Given the description of an element on the screen output the (x, y) to click on. 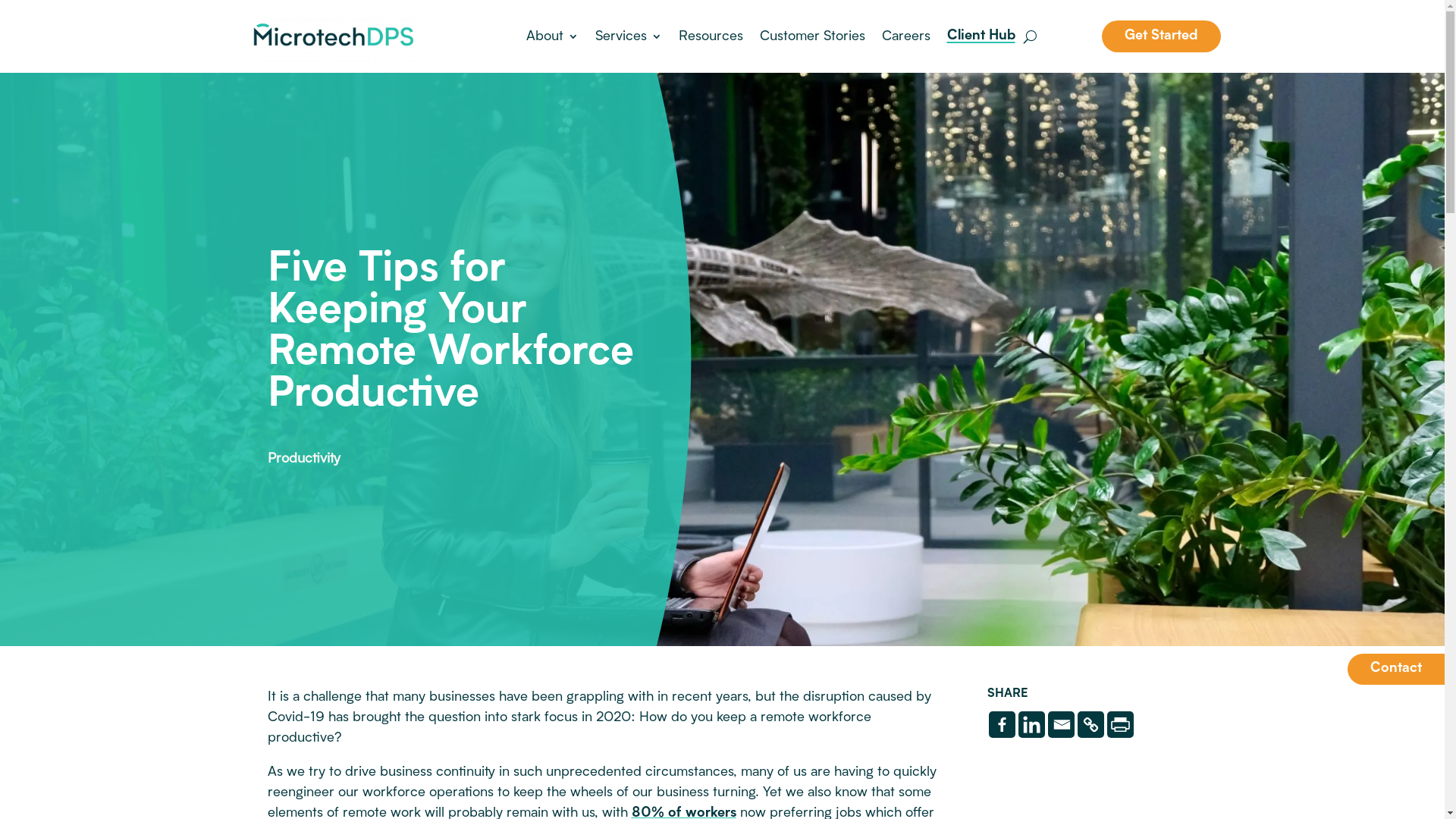
Careers Element type: text (905, 36)
Copy Link Element type: hover (1090, 724)
Email Element type: hover (1061, 724)
Linkedin Element type: hover (1031, 724)
Client Hub Element type: text (980, 36)
Customer Stories Element type: text (812, 36)
Contact Element type: text (1395, 668)
PrintFriendly Element type: hover (1120, 724)
Facebook Element type: hover (1001, 724)
Productivity Element type: text (302, 458)
Get Started Element type: text (1160, 35)
Resources Element type: text (709, 36)
Services Element type: text (627, 36)
About Element type: text (552, 36)
